Given the description of an element on the screen output the (x, y) to click on. 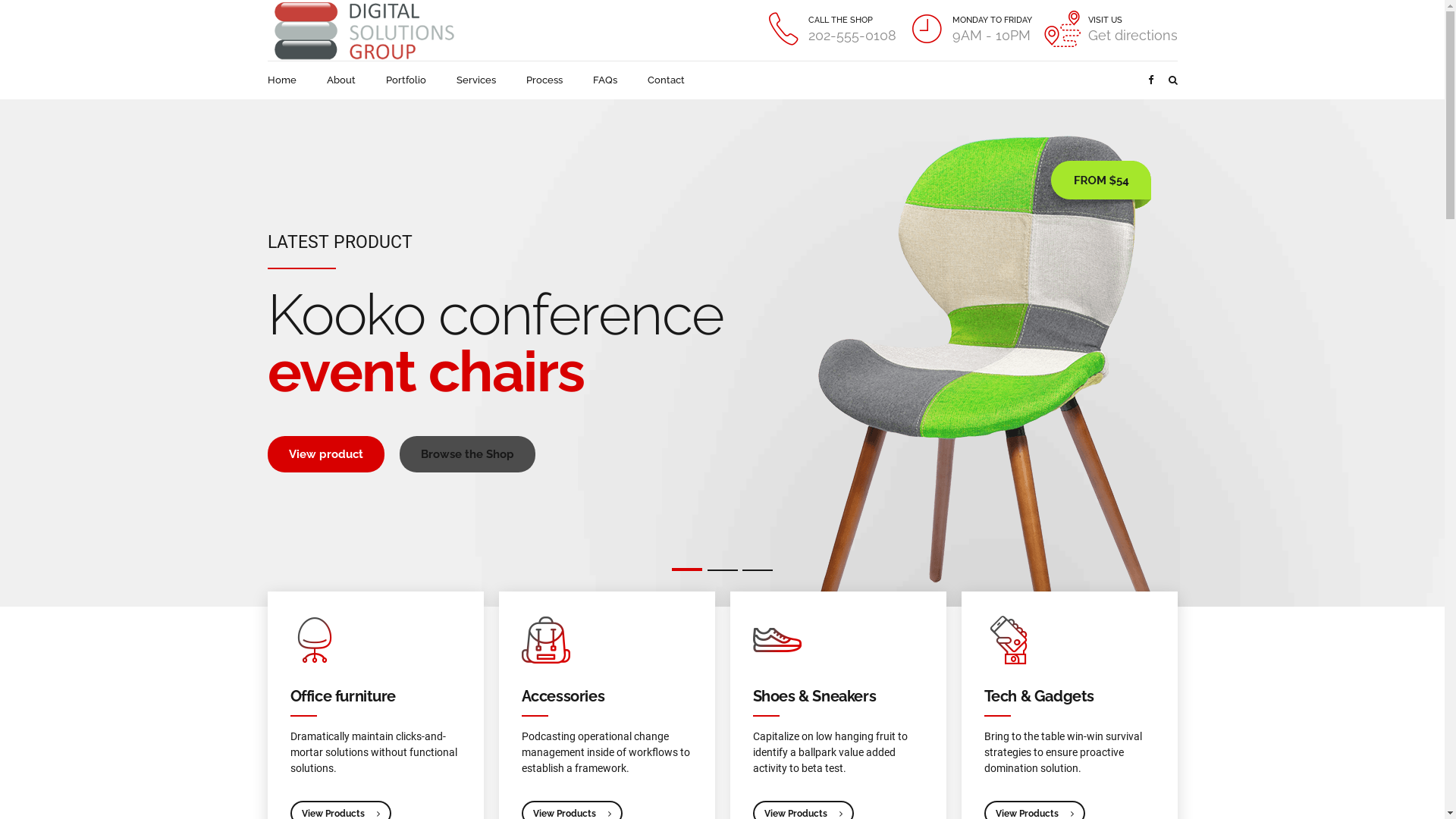
CALL THE SHOP
202-555-0108 Element type: text (831, 30)
SEO Element type: text (432, 614)
Services Element type: text (475, 80)
Home Element type: text (280, 794)
About Element type: text (278, 570)
VISIT US
Get directions Element type: text (1110, 30)
eCommerce Element type: text (449, 548)
Browse the Shop Element type: text (467, 454)
Careers Element type: text (448, 794)
Portfolio Element type: text (284, 658)
Websites Element type: text (443, 636)
Branding & Design Element type: text (462, 570)
FAQs Element type: text (277, 636)
shop_slider Element type: hover (966, 347)
Portfolio Element type: text (284, 614)
About Element type: text (340, 80)
About Element type: text (332, 794)
Website Planning and Strategy Element type: text (470, 667)
Contact Element type: text (665, 80)
Careers Element type: text (283, 592)
Home Element type: text (280, 80)
Portfolio Element type: text (388, 794)
Portfolio Element type: text (405, 80)
logo_footer_dark Element type: hover (322, 435)
Home Element type: text (279, 548)
FAQs Element type: text (605, 80)
Digital Marketing Element type: text (459, 592)
Process Element type: text (544, 80)
View product Element type: text (324, 454)
